Given the description of an element on the screen output the (x, y) to click on. 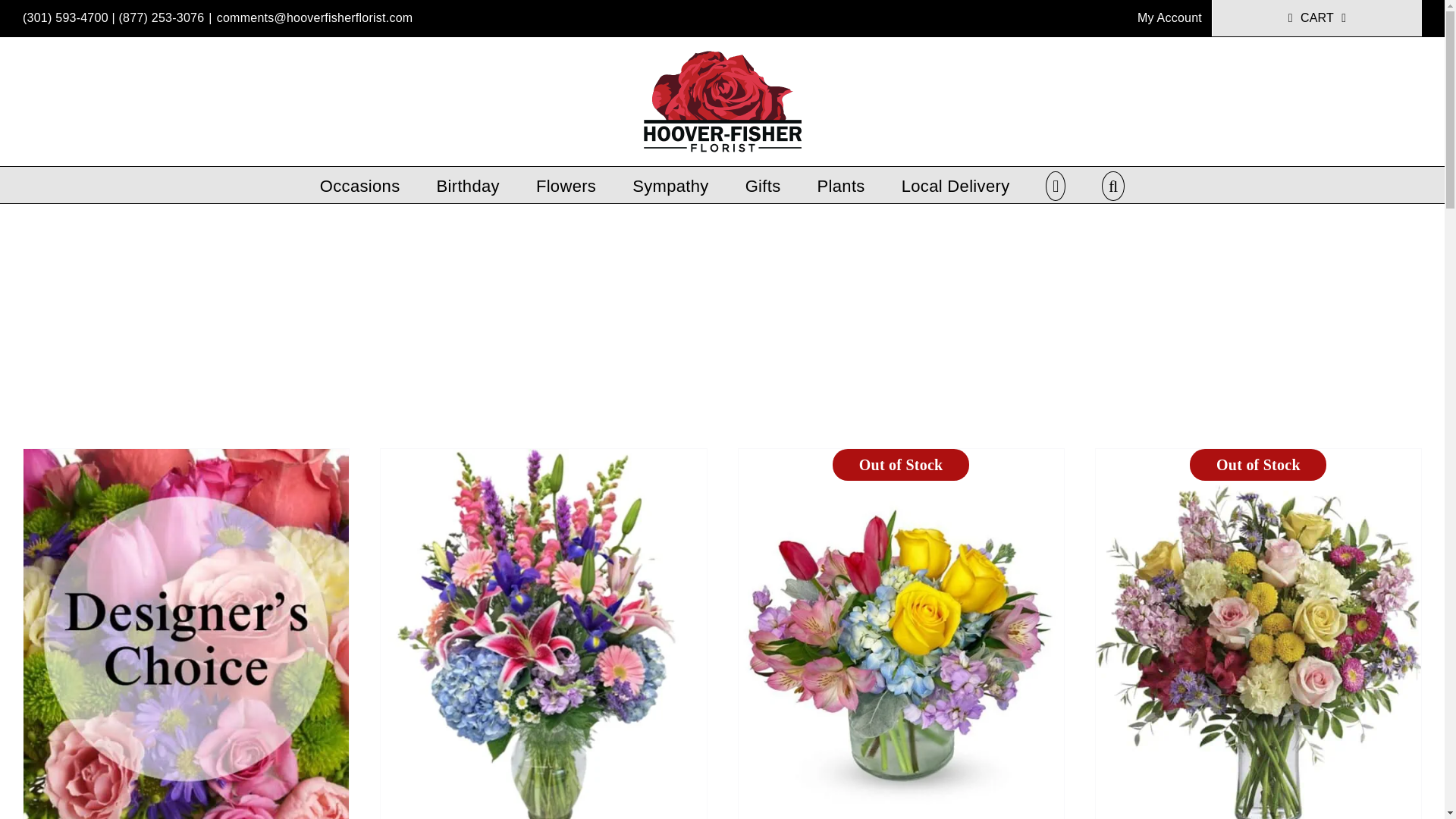
Flowers (565, 185)
My Account (1168, 18)
Occasions (360, 185)
Sympathy (669, 185)
Flowers For Birthdays (467, 185)
Farm-Fresh Flowers, Orchids, Roses, Tulips (565, 185)
Flowers For All Occasions (360, 185)
Birthday (467, 185)
CART (1317, 18)
Log In (1291, 179)
